Given the description of an element on the screen output the (x, y) to click on. 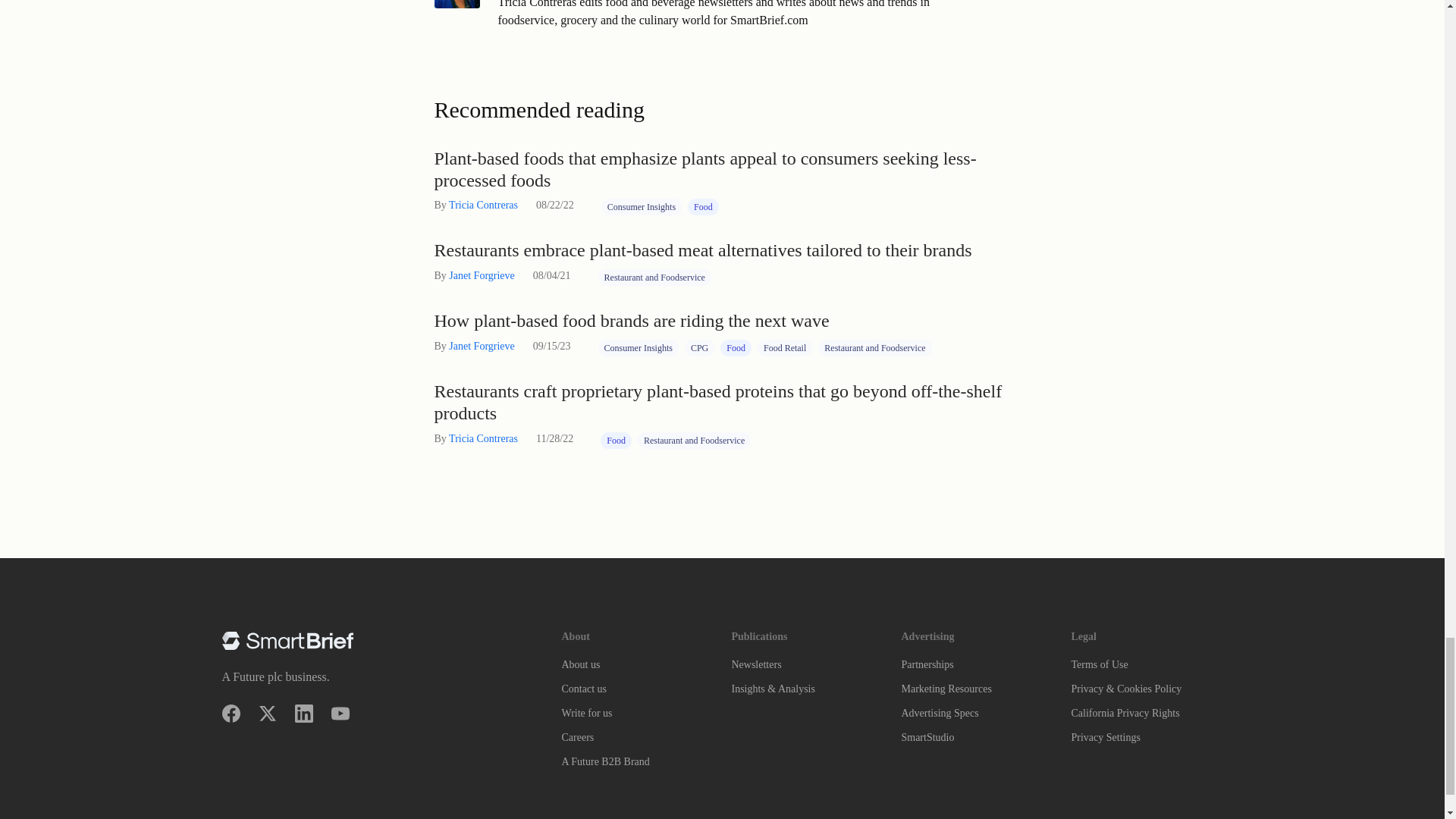
LinkedIn (303, 713)
YouTube (339, 713)
Facebook (230, 713)
